Given the description of an element on the screen output the (x, y) to click on. 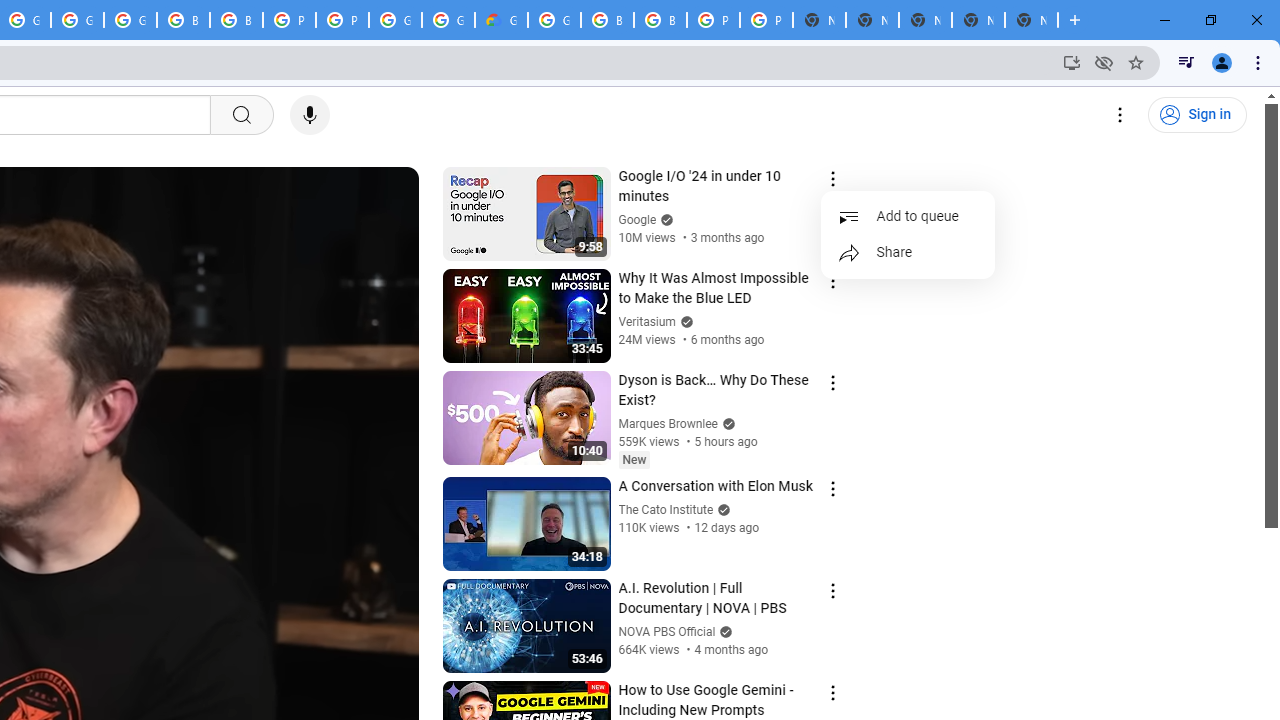
Add to queue (907, 216)
Search with your voice (309, 115)
Install YouTube (1071, 62)
